Given the description of an element on the screen output the (x, y) to click on. 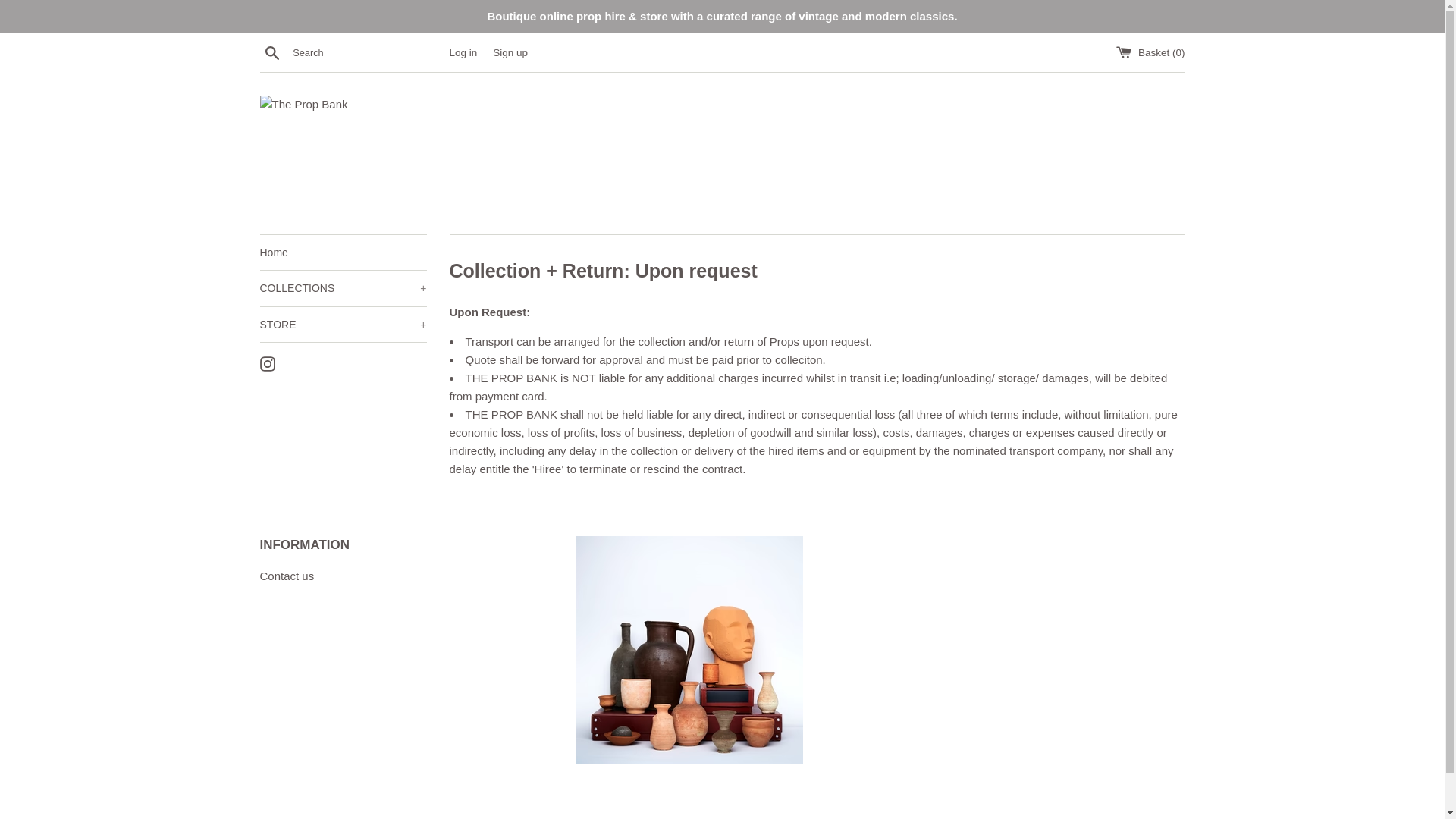
Log in (462, 52)
Search (271, 52)
Home (342, 252)
The Prop Bank on Instagram (267, 362)
Sign up (510, 52)
